Given the description of an element on the screen output the (x, y) to click on. 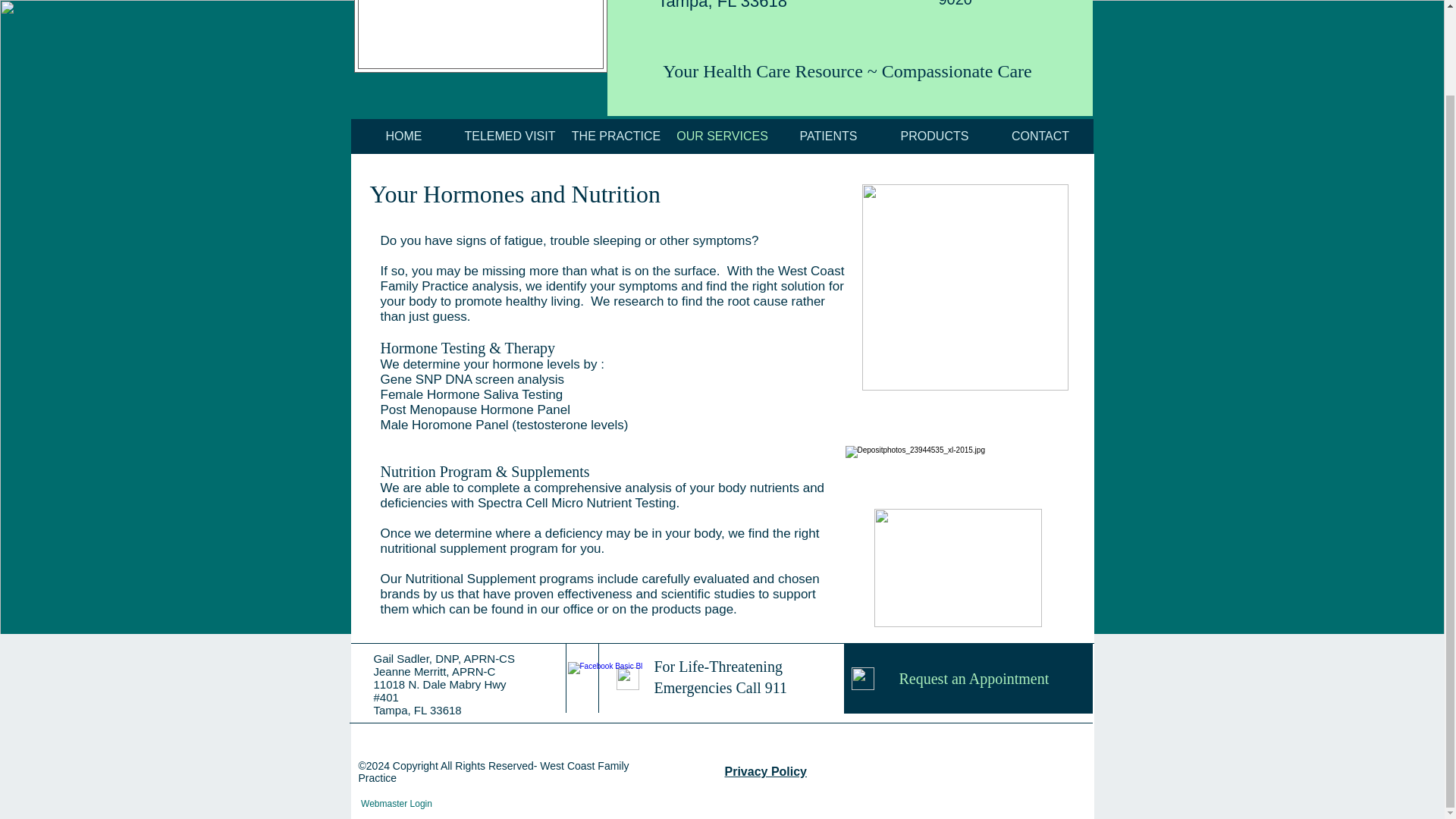
Webmaster Login (396, 803)
THE PRACTICE (615, 135)
OUR SERVICES (721, 135)
Privacy Policy (766, 771)
Request an Appointment (967, 678)
PATIENTS (827, 135)
HOME (403, 135)
PRODUCTS (933, 135)
TELEMED VISIT (509, 135)
WestCoast Family Home (480, 36)
